Given the description of an element on the screen output the (x, y) to click on. 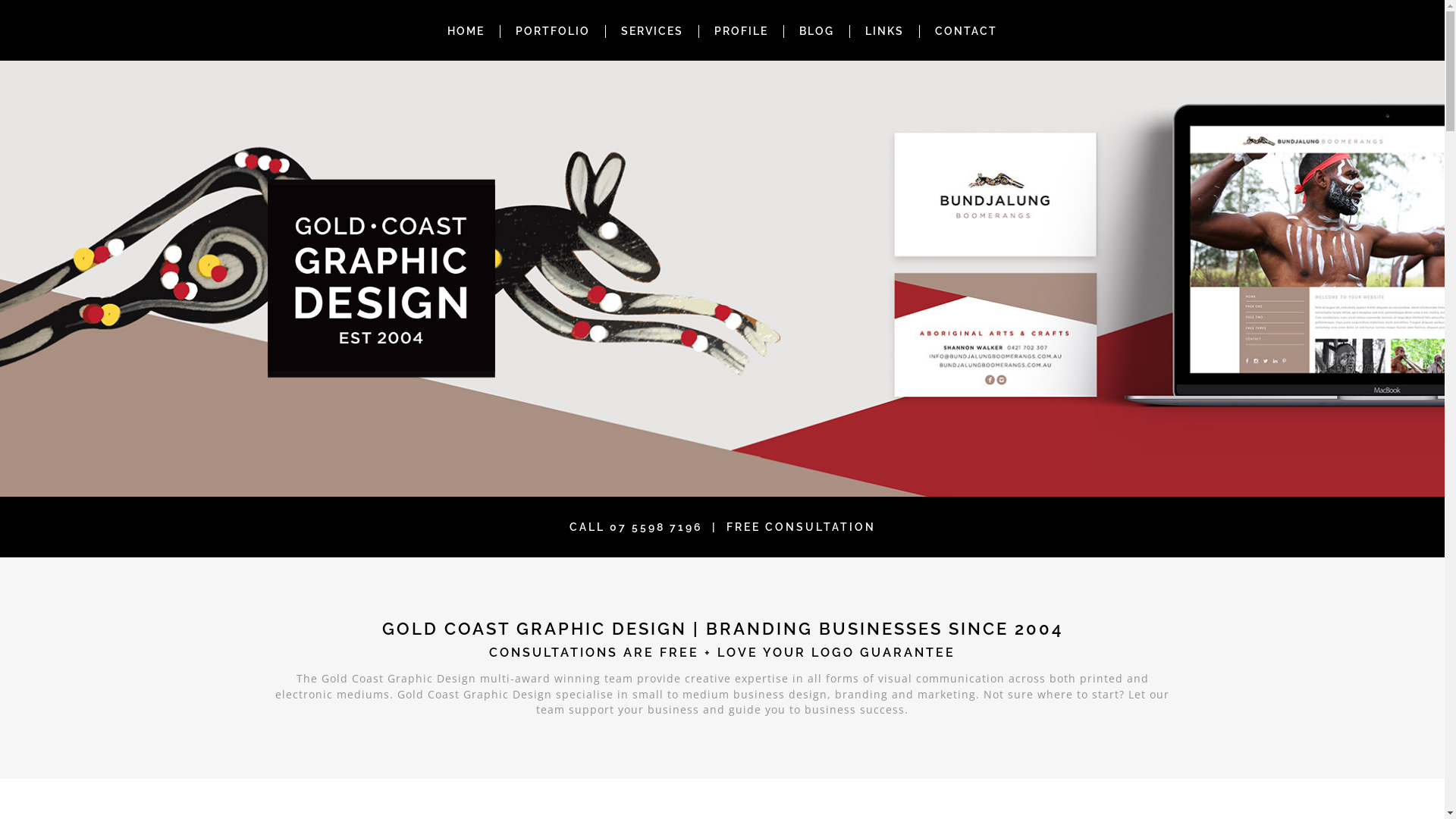
07 5598 7196 Element type: text (655, 526)
CONTACT Element type: text (966, 31)
HOME Element type: text (465, 31)
SERVICES Element type: text (652, 31)
